Given the description of an element on the screen output the (x, y) to click on. 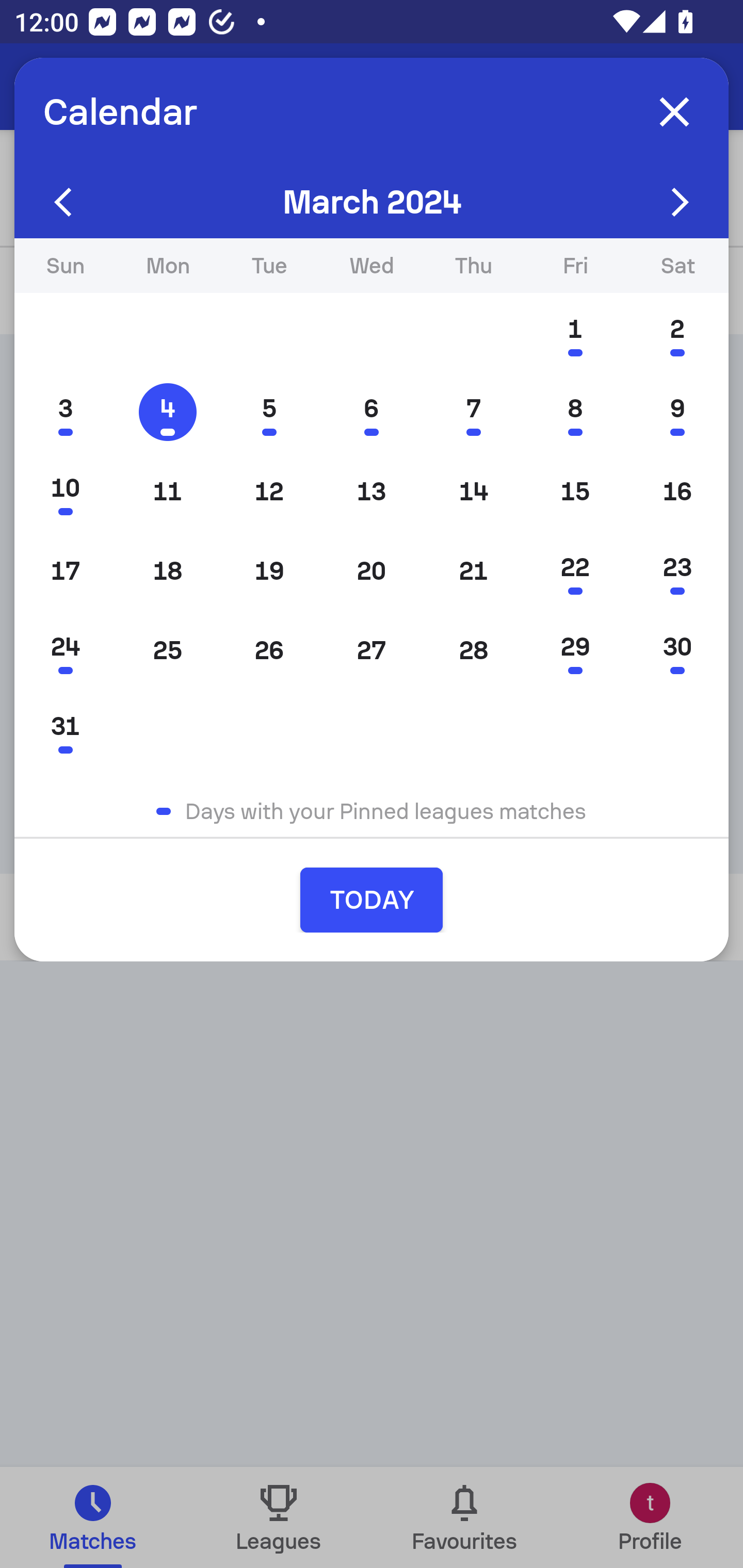
Handball (124, 86)
1 (575, 333)
2 (677, 333)
3 (65, 412)
4 (167, 412)
5 (269, 412)
6 (371, 412)
7 (473, 412)
8 (575, 412)
9 (677, 412)
10 (65, 491)
11 (167, 491)
12 (269, 491)
13 (371, 491)
14 (473, 491)
15 (575, 491)
16 (677, 491)
17 (65, 570)
18 (167, 570)
19 (269, 570)
20 (371, 570)
21 (473, 570)
22 (575, 570)
23 (677, 570)
24 (65, 649)
25 (167, 649)
26 (269, 649)
27 (371, 649)
28 (473, 649)
29 (575, 649)
30 (677, 649)
31 (65, 729)
TODAY (371, 899)
